Given the description of an element on the screen output the (x, y) to click on. 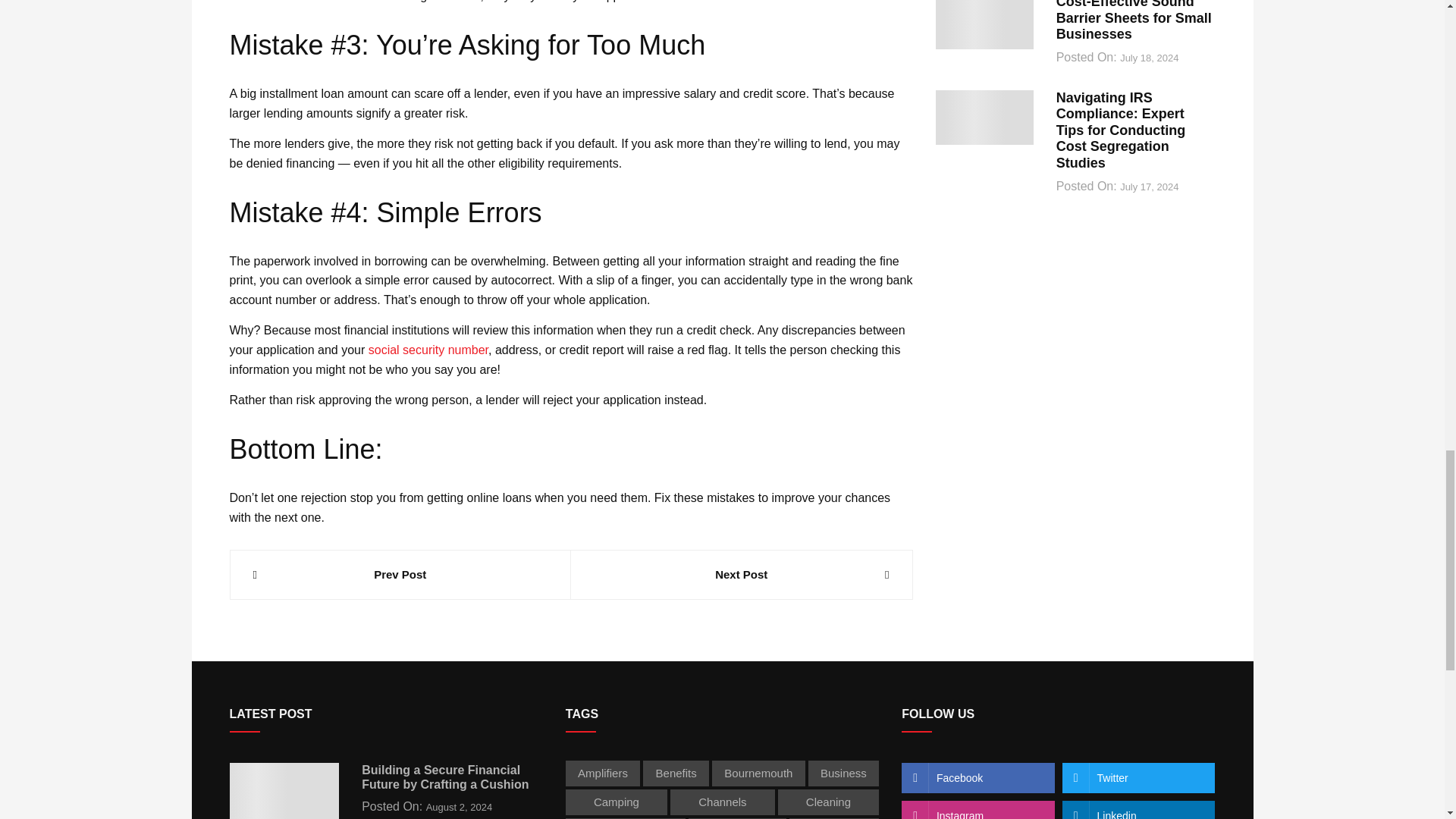
social security number (427, 349)
Prev Post (400, 574)
Next Post (741, 574)
